Given the description of an element on the screen output the (x, y) to click on. 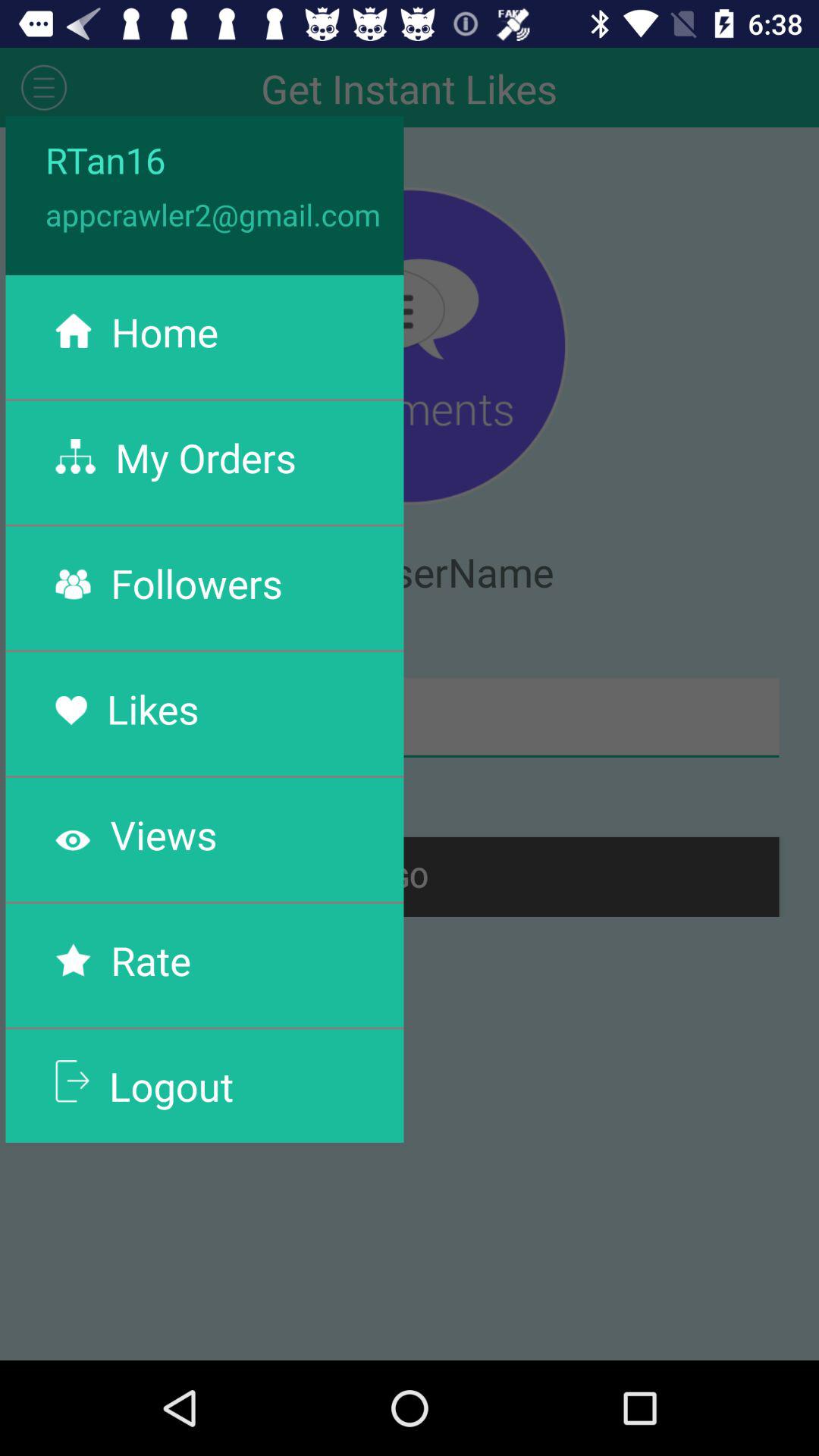
open the my orders (205, 457)
